Given the description of an element on the screen output the (x, y) to click on. 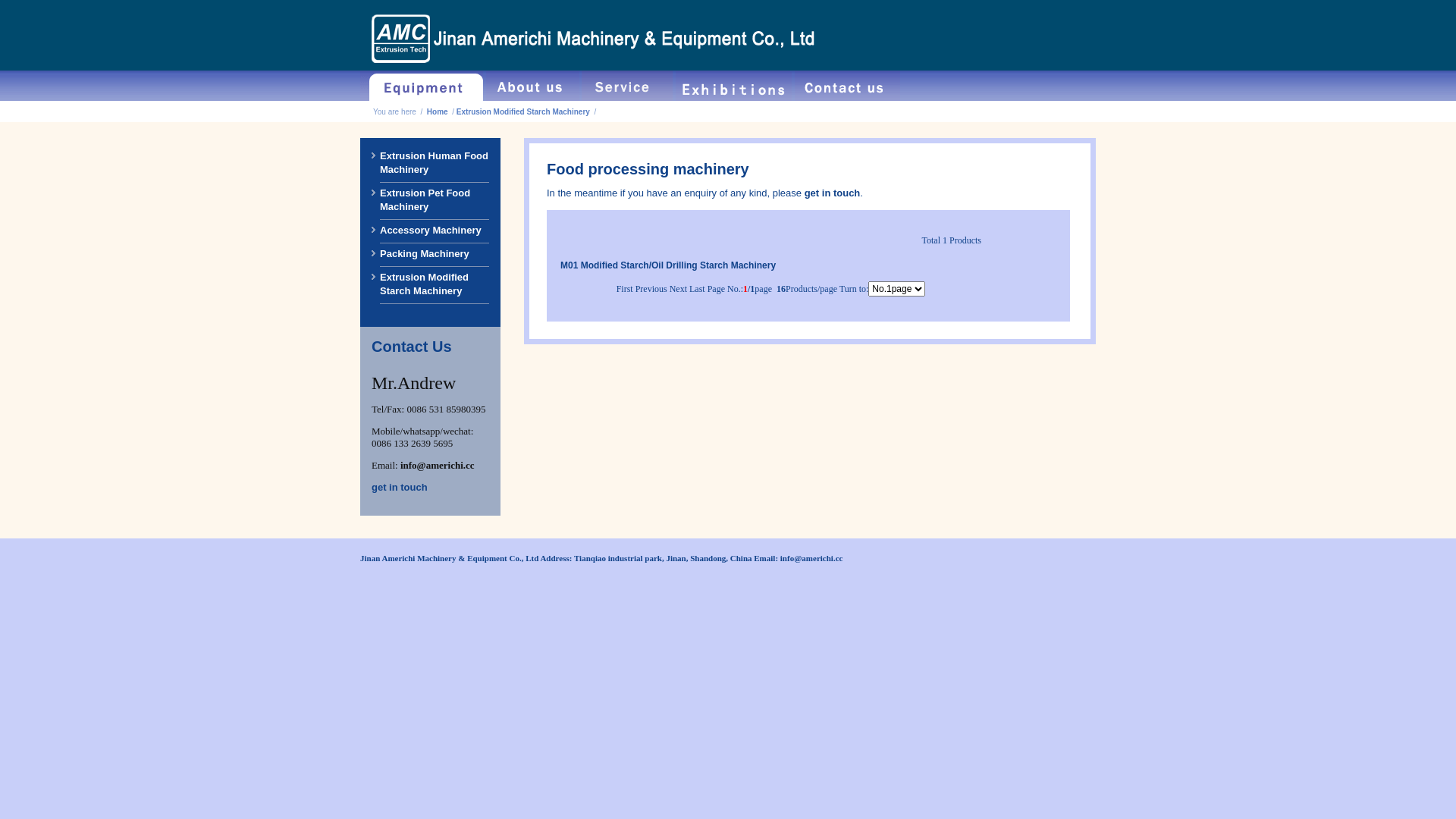
Extrusion Pet Food Machinery Element type: text (424, 200)
M01 Modified Starch/Oil Drilling Starch Machinery Element type: text (667, 264)
Accessory Machinery Element type: text (430, 230)
info@americhi.cc Element type: text (437, 464)
get in touch Element type: text (832, 192)
Extrusion Modified Starch Machinery Element type: text (522, 111)
Packing Machinery Element type: text (424, 253)
Extrusion Modified Starch Machinery Element type: text (423, 284)
get in touch Element type: text (399, 486)
Home Element type: text (437, 111)
Extrusion Human Food Machinery Element type: text (433, 162)
